Given the description of an element on the screen output the (x, y) to click on. 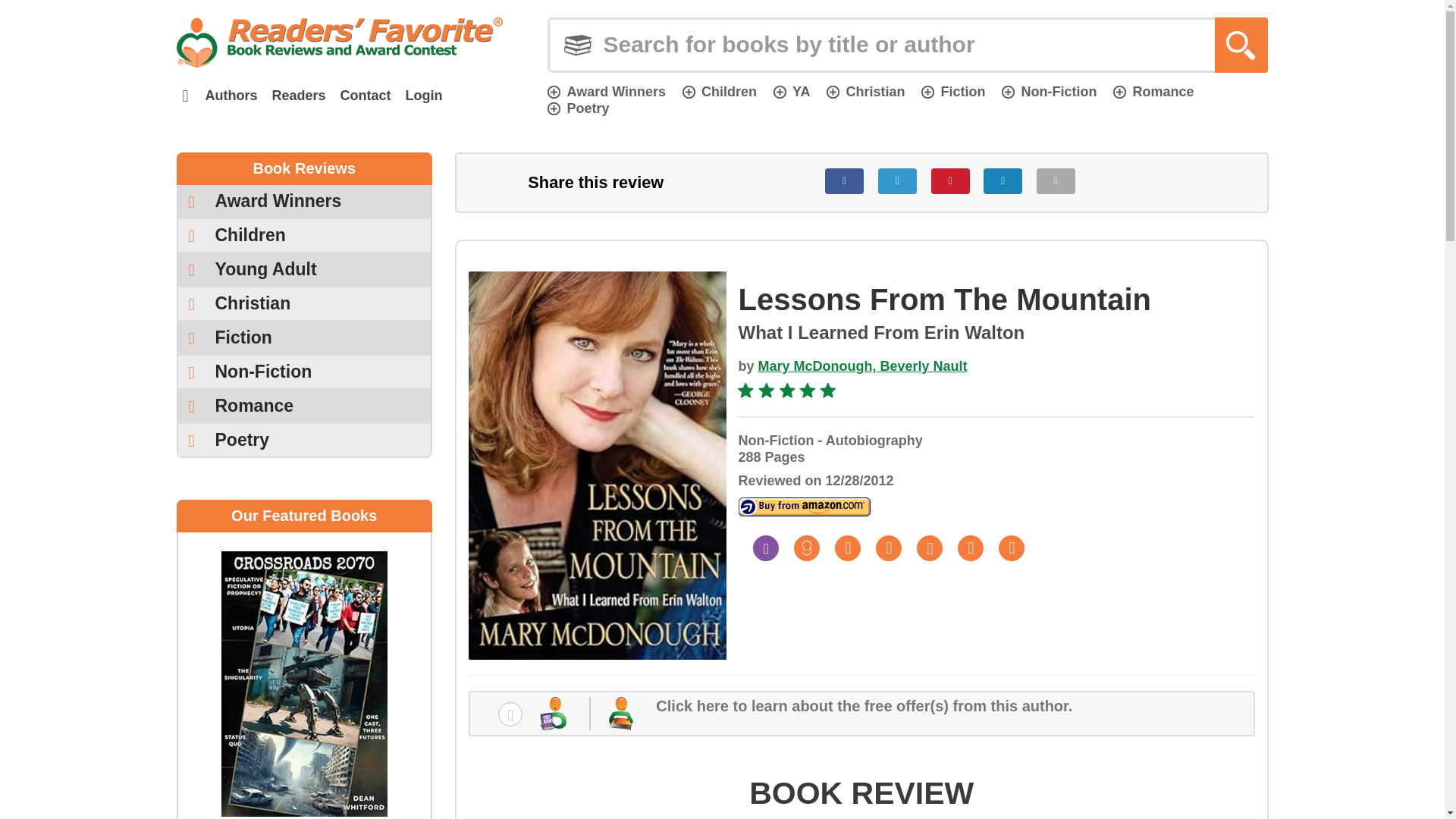
Christian (865, 91)
YA (791, 91)
Fiction (953, 91)
Contact (365, 96)
Children (719, 91)
Readers (297, 96)
Poetry (577, 108)
Authors (230, 96)
Readers' Favorite (339, 42)
Award Winners (606, 91)
Award Winners (303, 202)
Non-Fiction (1048, 91)
Login (423, 96)
Romance (1153, 91)
